Given the description of an element on the screen output the (x, y) to click on. 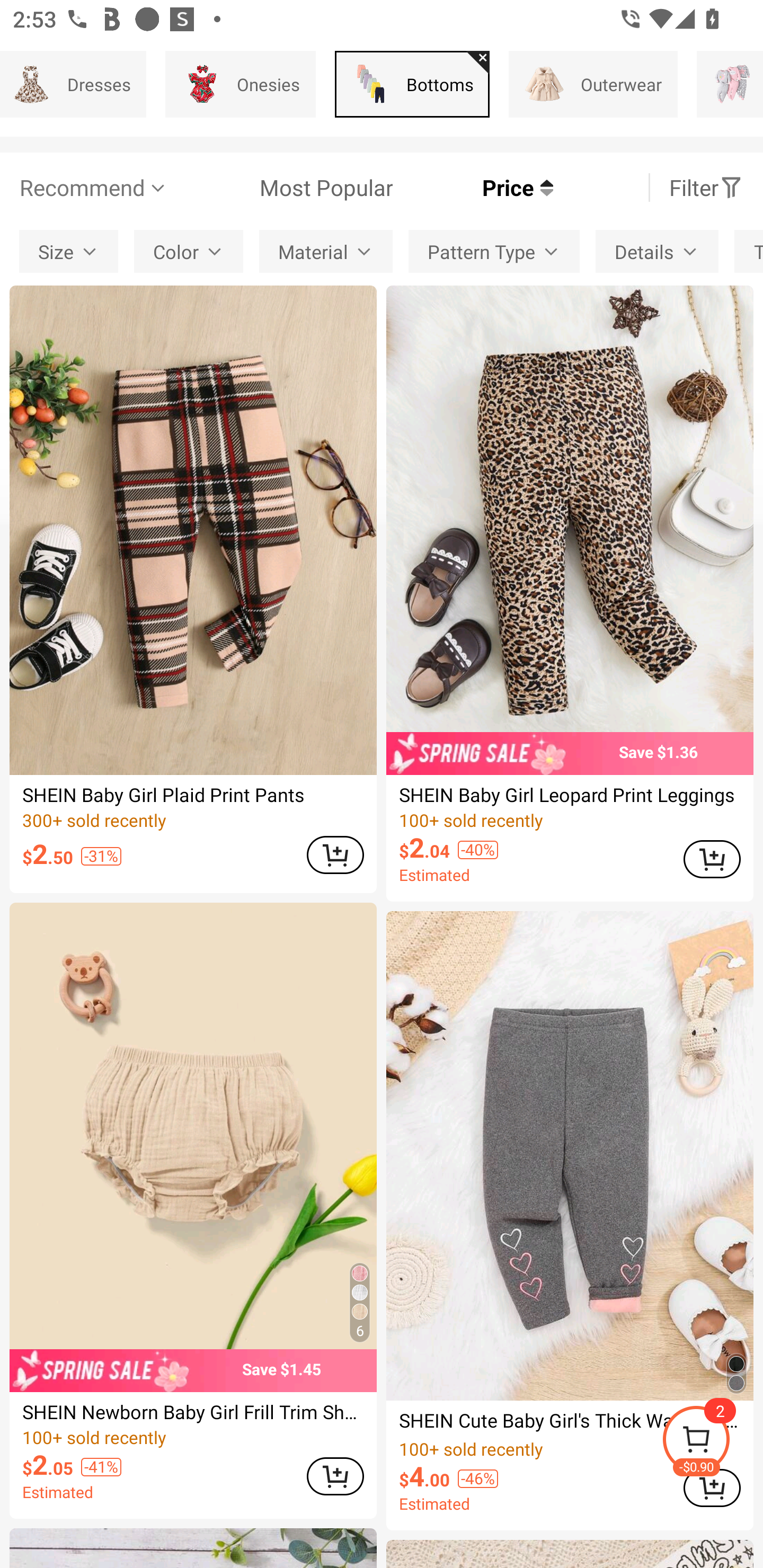
Dresses (73, 83)
Onesies (240, 83)
Bottoms (411, 83)
Outerwear (592, 83)
Recommend (93, 187)
Most Popular (280, 187)
Price (472, 187)
Filter (705, 187)
Size (68, 251)
Color (188, 251)
Material (325, 251)
Pattern Type (493, 251)
Details (656, 251)
ADD TO CART (334, 854)
ADD TO CART (711, 859)
-$0.90 (712, 1441)
ADD TO CART (334, 1475)
ADD TO CART (711, 1487)
